Given the description of an element on the screen output the (x, y) to click on. 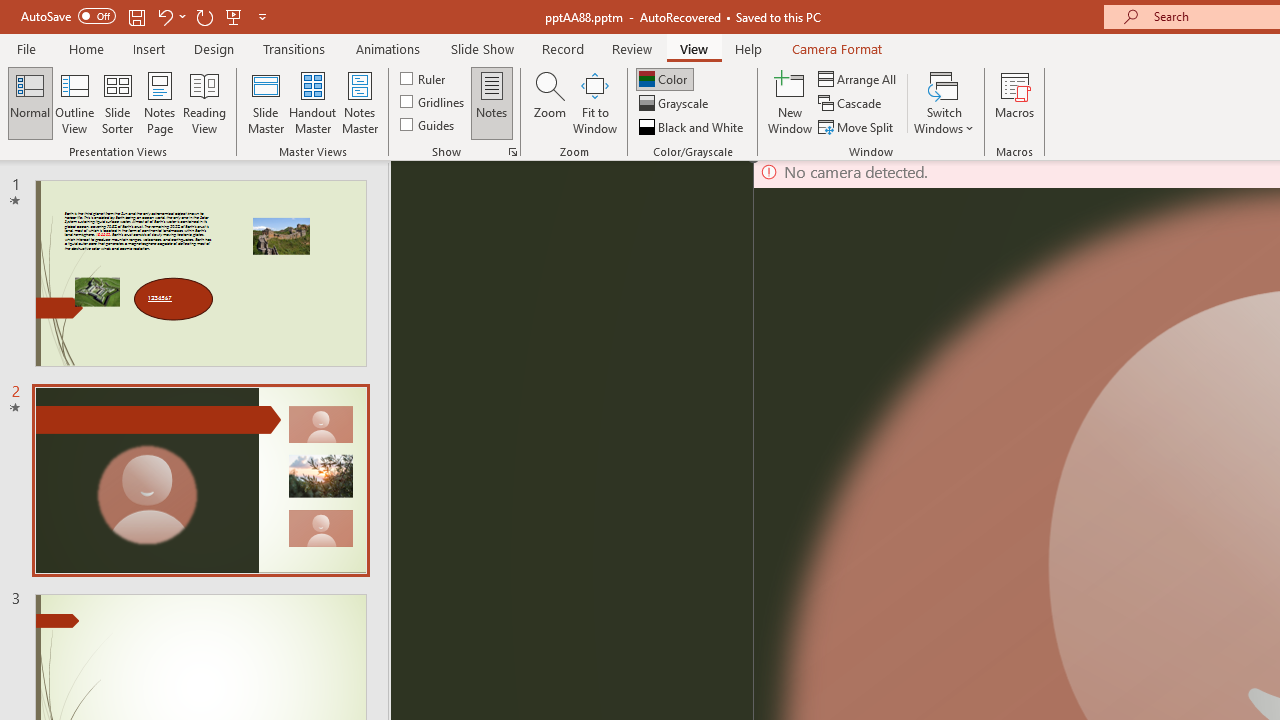
Ruler (423, 78)
Reading View (204, 102)
Notes Page (159, 102)
Color (664, 78)
